Given the description of an element on the screen output the (x, y) to click on. 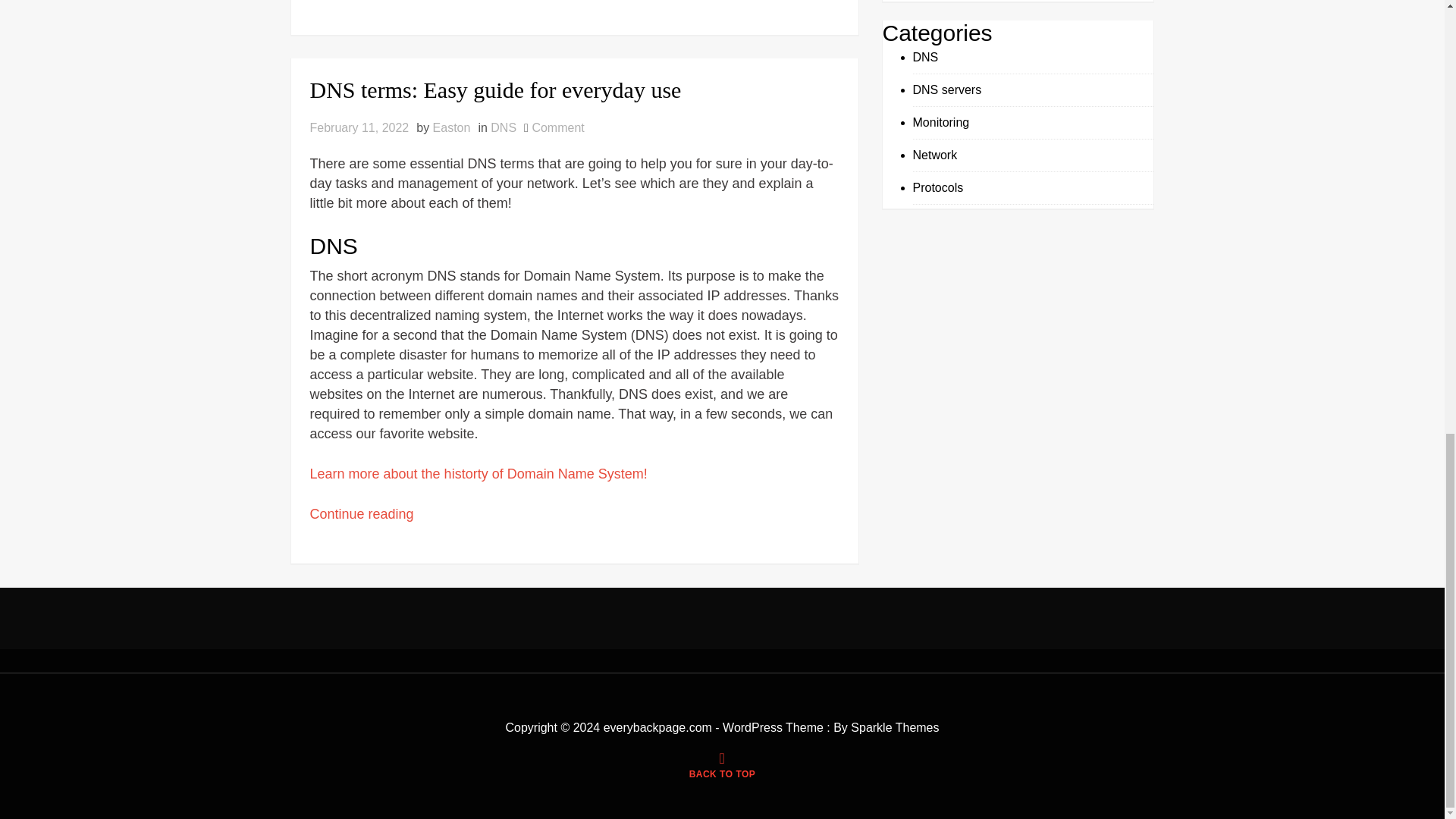
February 11, 2022 (358, 127)
Easton (451, 127)
Learn more about the historty of Domain Name System! (477, 473)
BACK TO TOP (721, 766)
DNS terms: Easy guide for everyday use (573, 89)
DNS (503, 127)
